Given the description of an element on the screen output the (x, y) to click on. 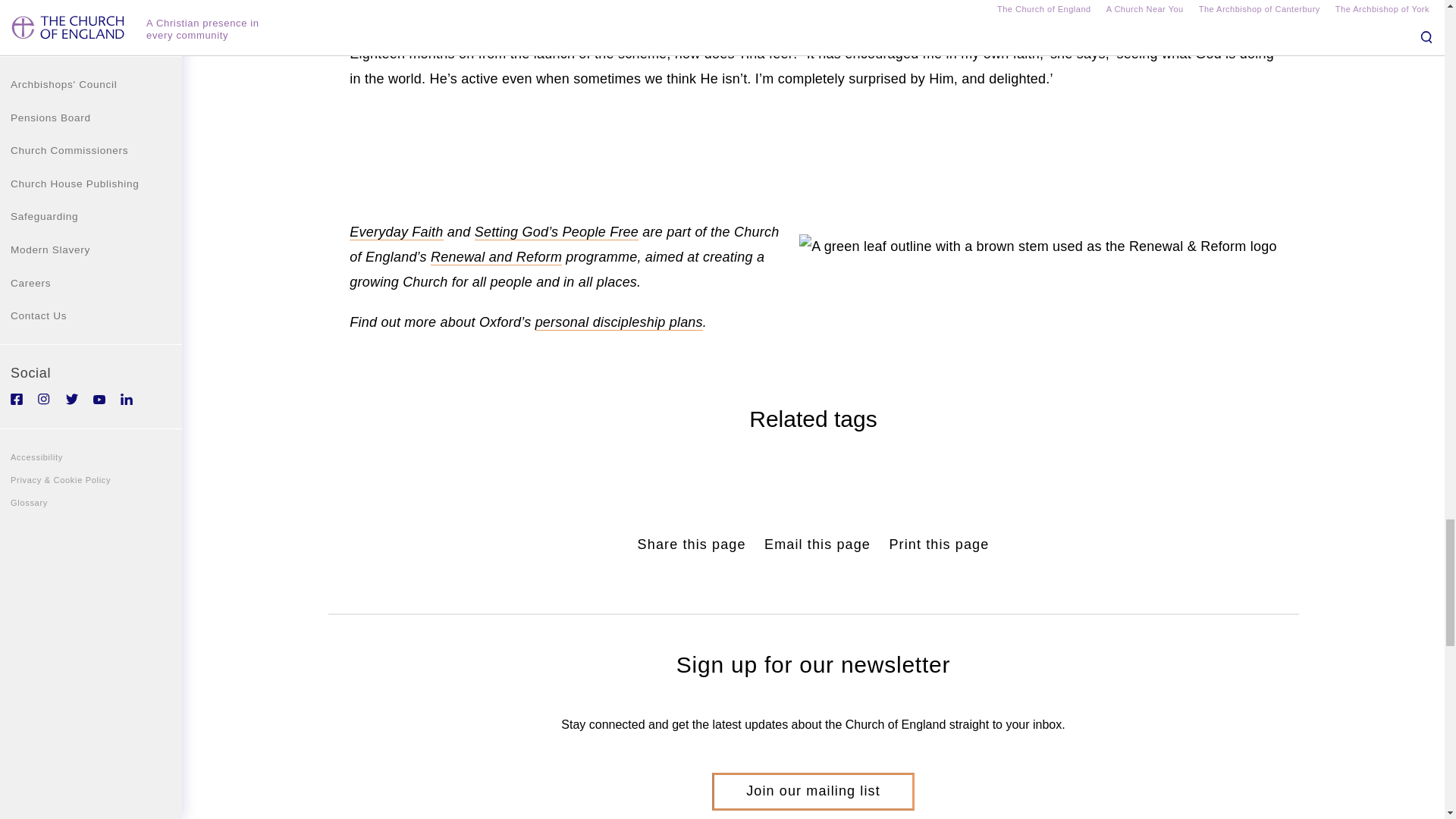
personal discipleship plans (619, 322)
Everyday Faith (395, 232)
Share this page (692, 544)
Email this page (817, 544)
Renewal and Reform (496, 257)
